Given the description of an element on the screen output the (x, y) to click on. 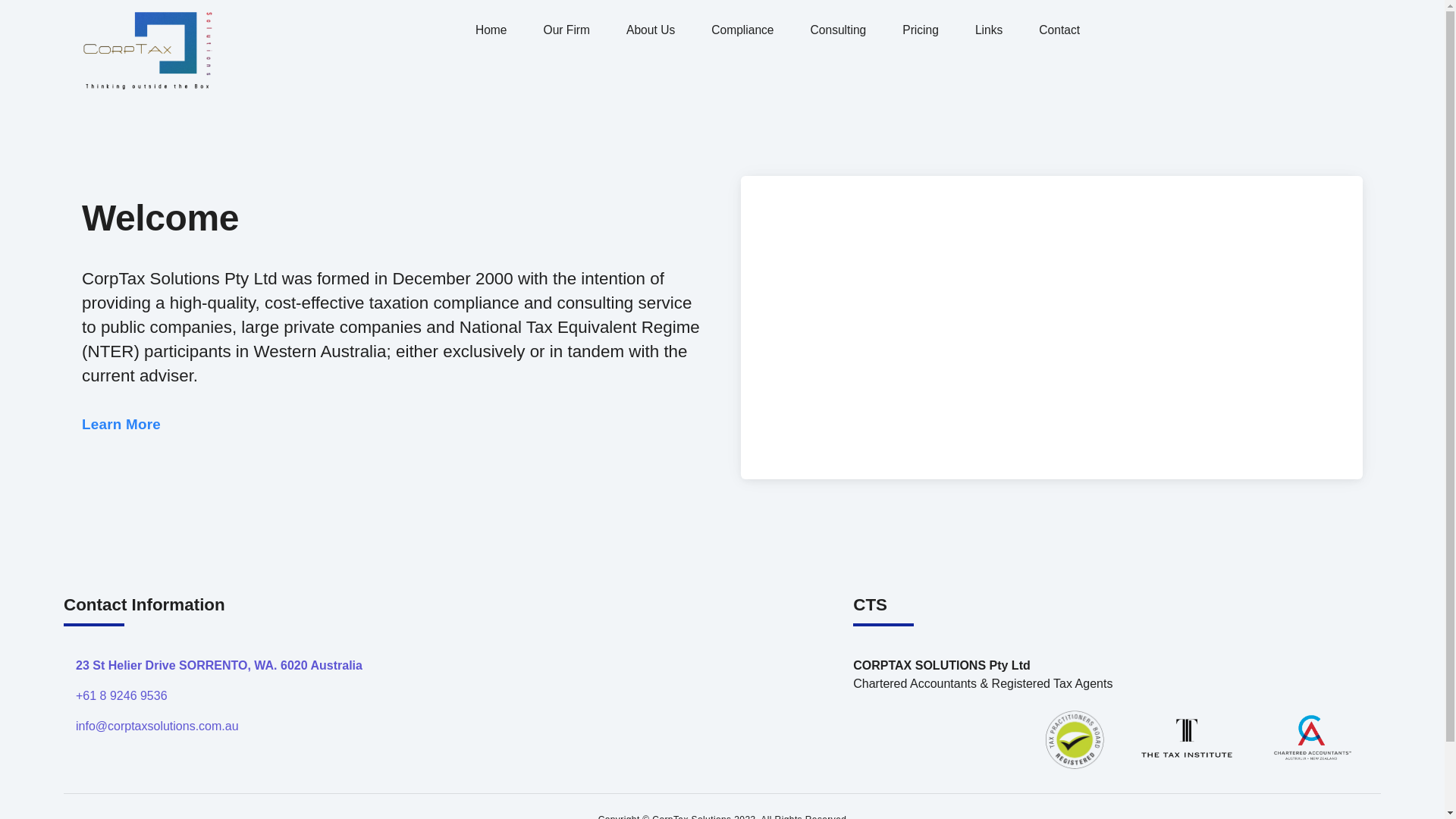
+61 8 9246 9536 Element type: text (121, 696)
Learn More Element type: text (120, 424)
About Us Element type: text (650, 29)
Home Element type: text (491, 29)
Our Firm Element type: text (566, 29)
Contact Element type: text (1059, 29)
Links Element type: text (988, 29)
Pricing Element type: text (920, 29)
Consulting Element type: text (838, 29)
Compliance Element type: text (742, 29)
23 St Helier Drive SORRENTO, WA. 6020 Australia Element type: text (218, 665)
info@corptaxsolutions.com.au Element type: text (156, 726)
